Given the description of an element on the screen output the (x, y) to click on. 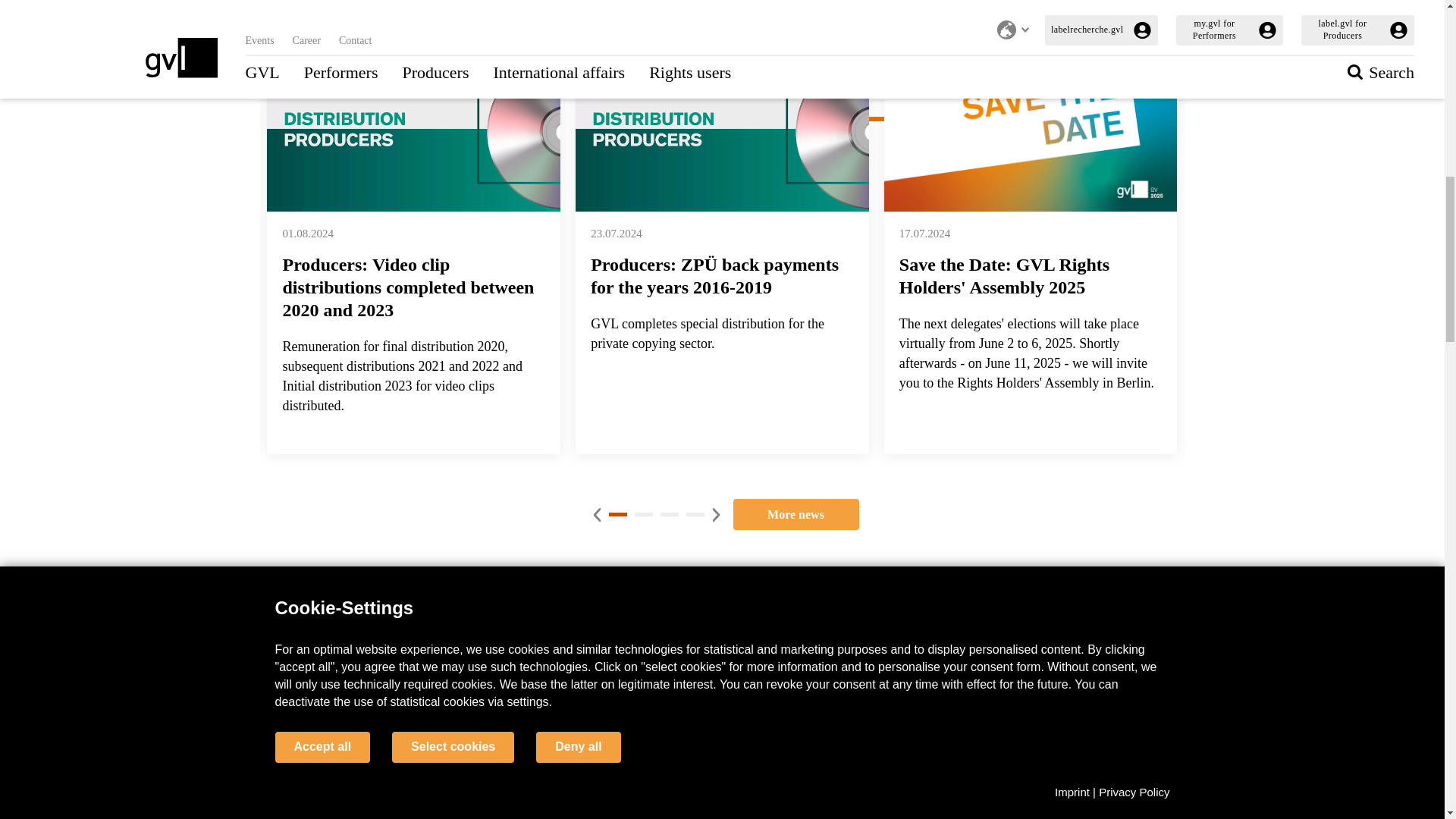
Save the Date News BV24 (1030, 128)
